Given the description of an element on the screen output the (x, y) to click on. 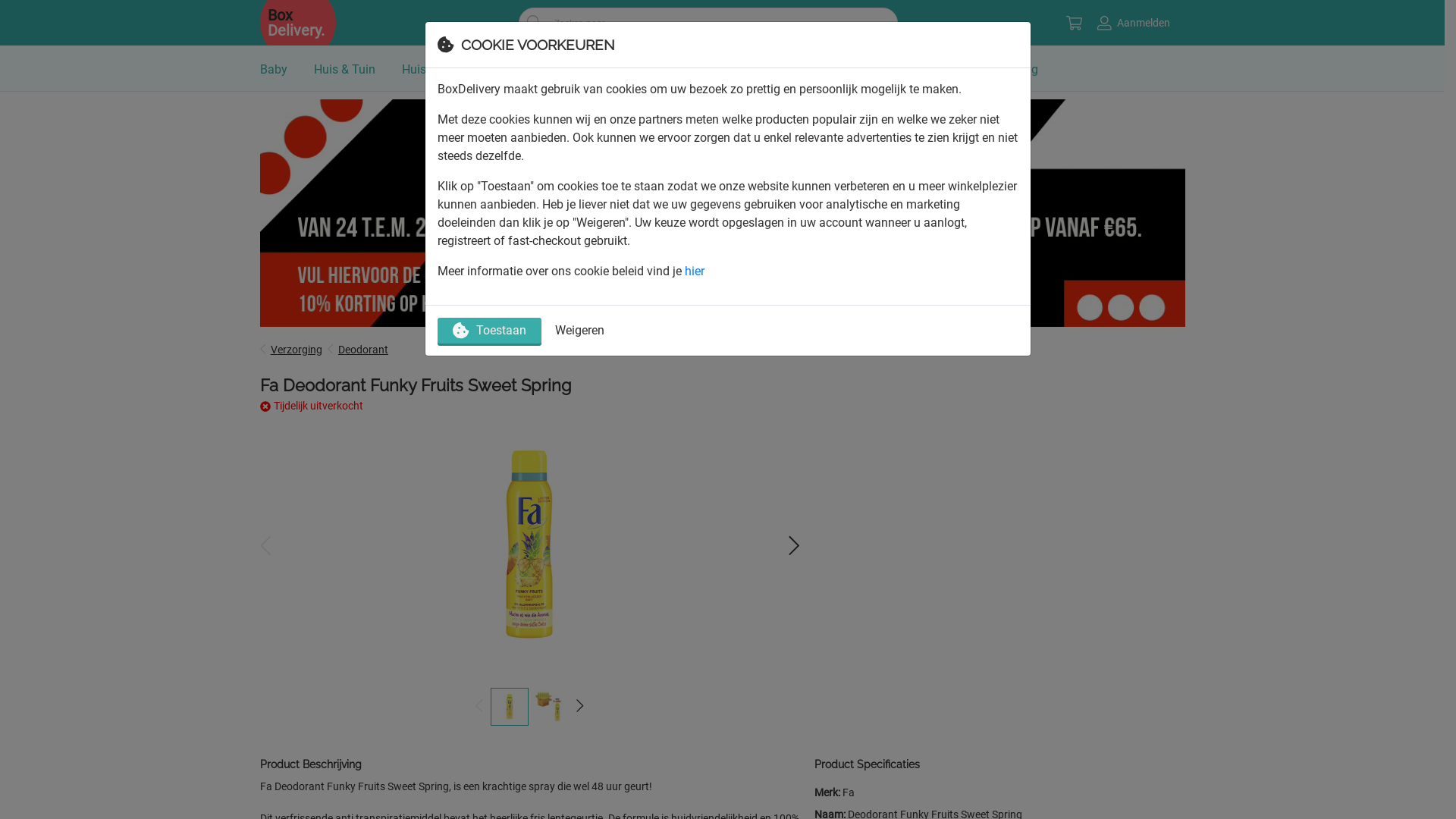
Deodorant Element type: text (363, 350)
Verzorging Element type: text (296, 350)
Weigeren Element type: text (575, 330)
hier Element type: text (694, 270)
